Given the description of an element on the screen output the (x, y) to click on. 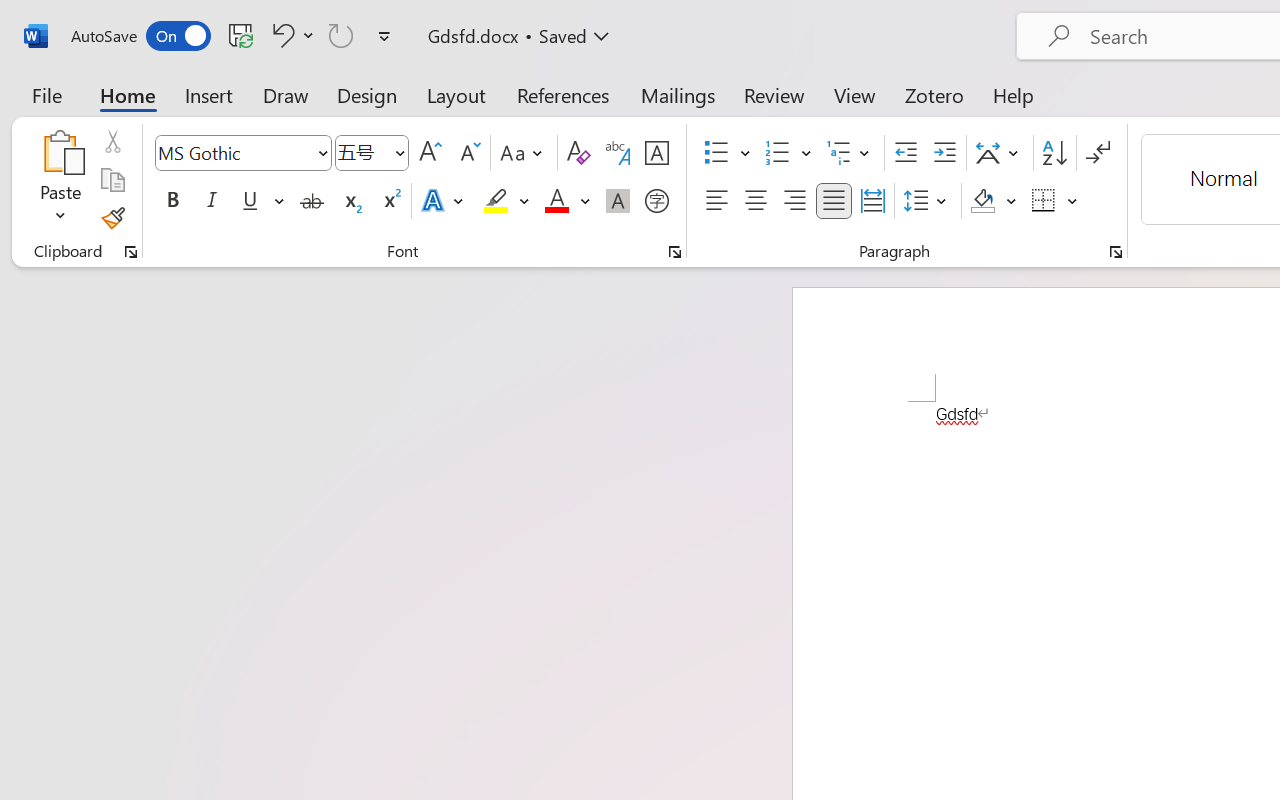
Undo Font Formatting (290, 35)
